Given the description of an element on the screen output the (x, y) to click on. 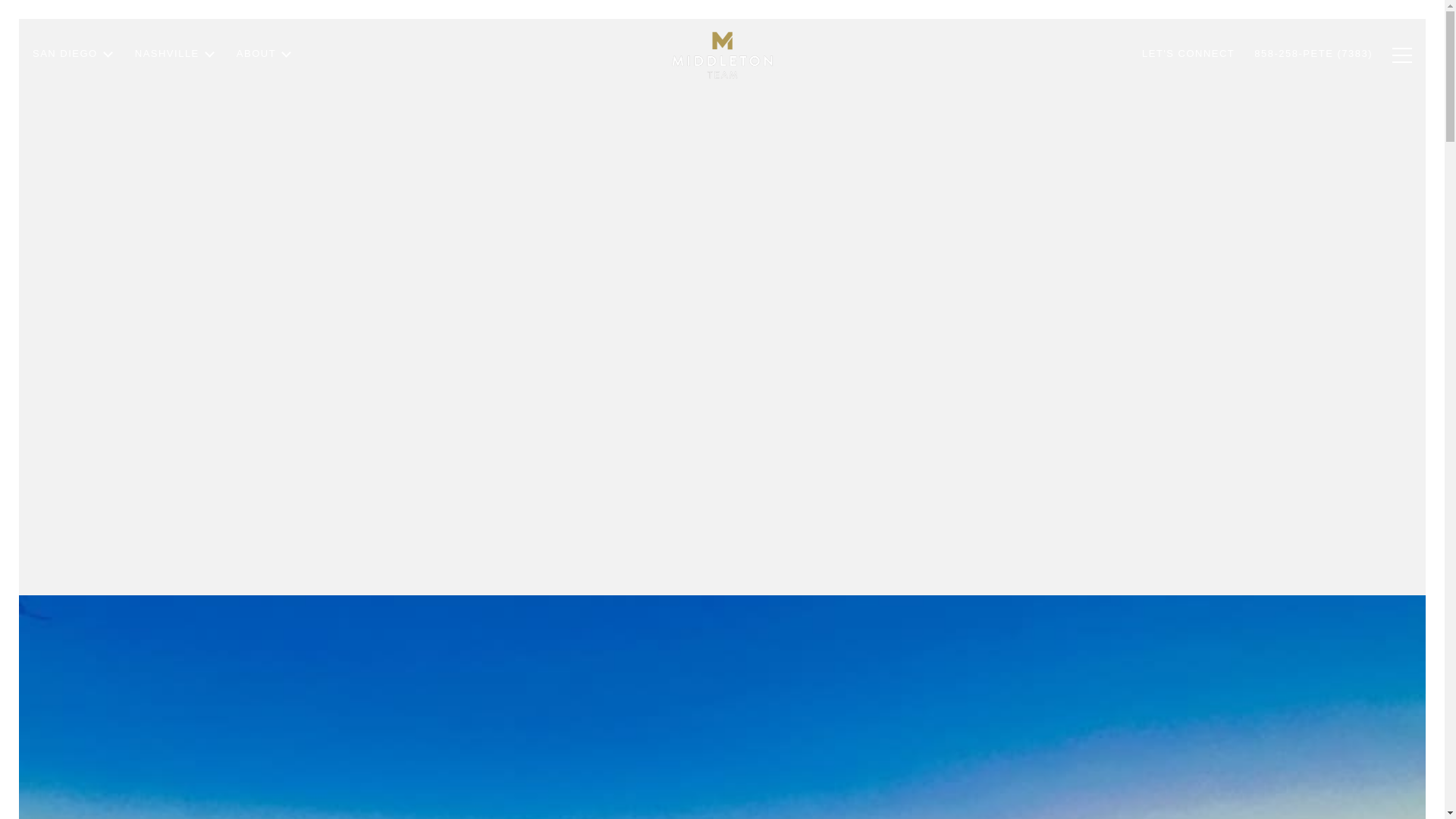
NASHVILLE (176, 88)
SAN DIEGO (74, 96)
LET'S CONNECT (1188, 71)
ABOUT (264, 81)
